Given the description of an element on the screen output the (x, y) to click on. 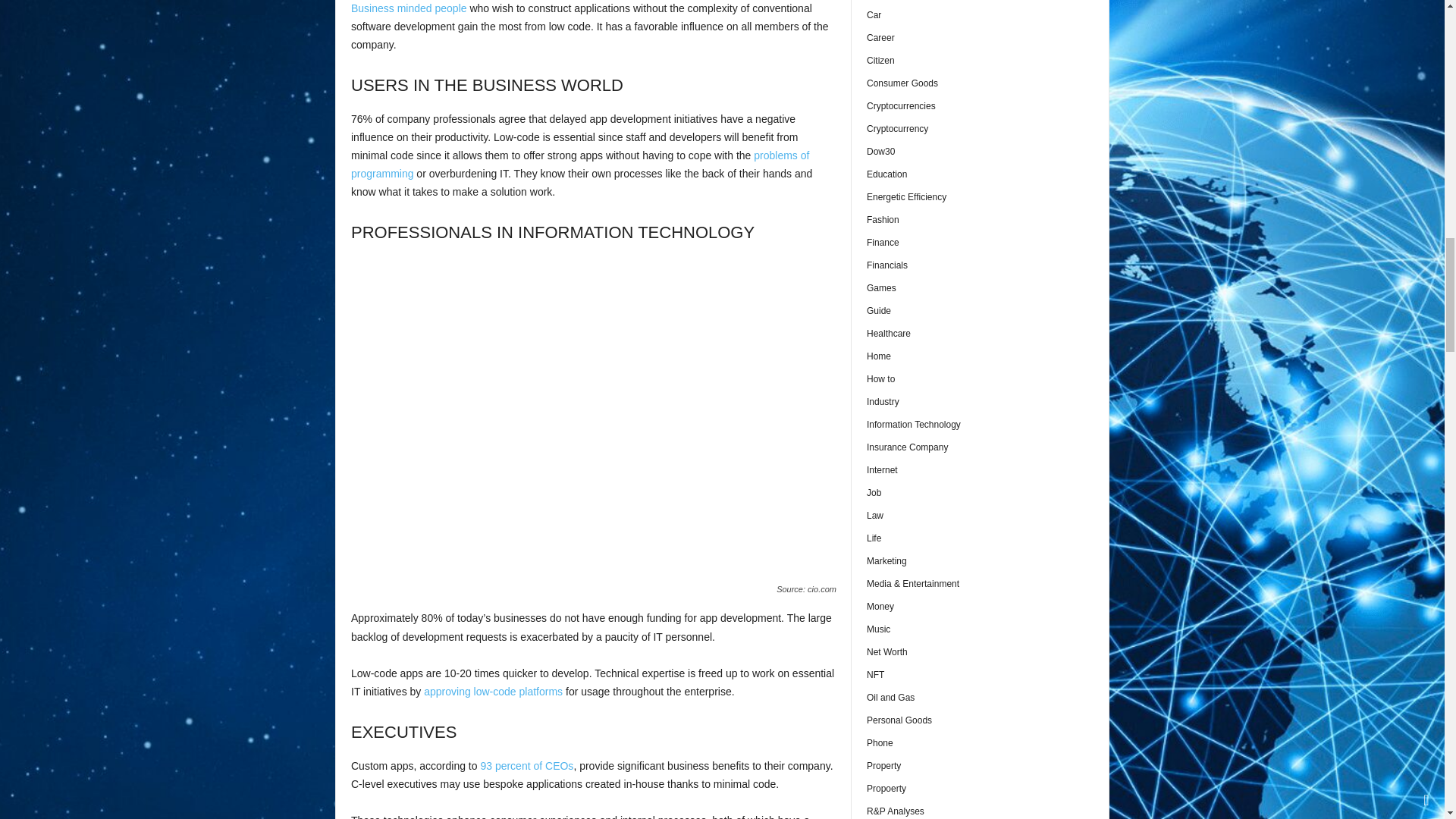
Business minded people (408, 8)
approving low-code platforms (492, 691)
93 percent of CEOs (526, 766)
problems of programming (579, 164)
